Given the description of an element on the screen output the (x, y) to click on. 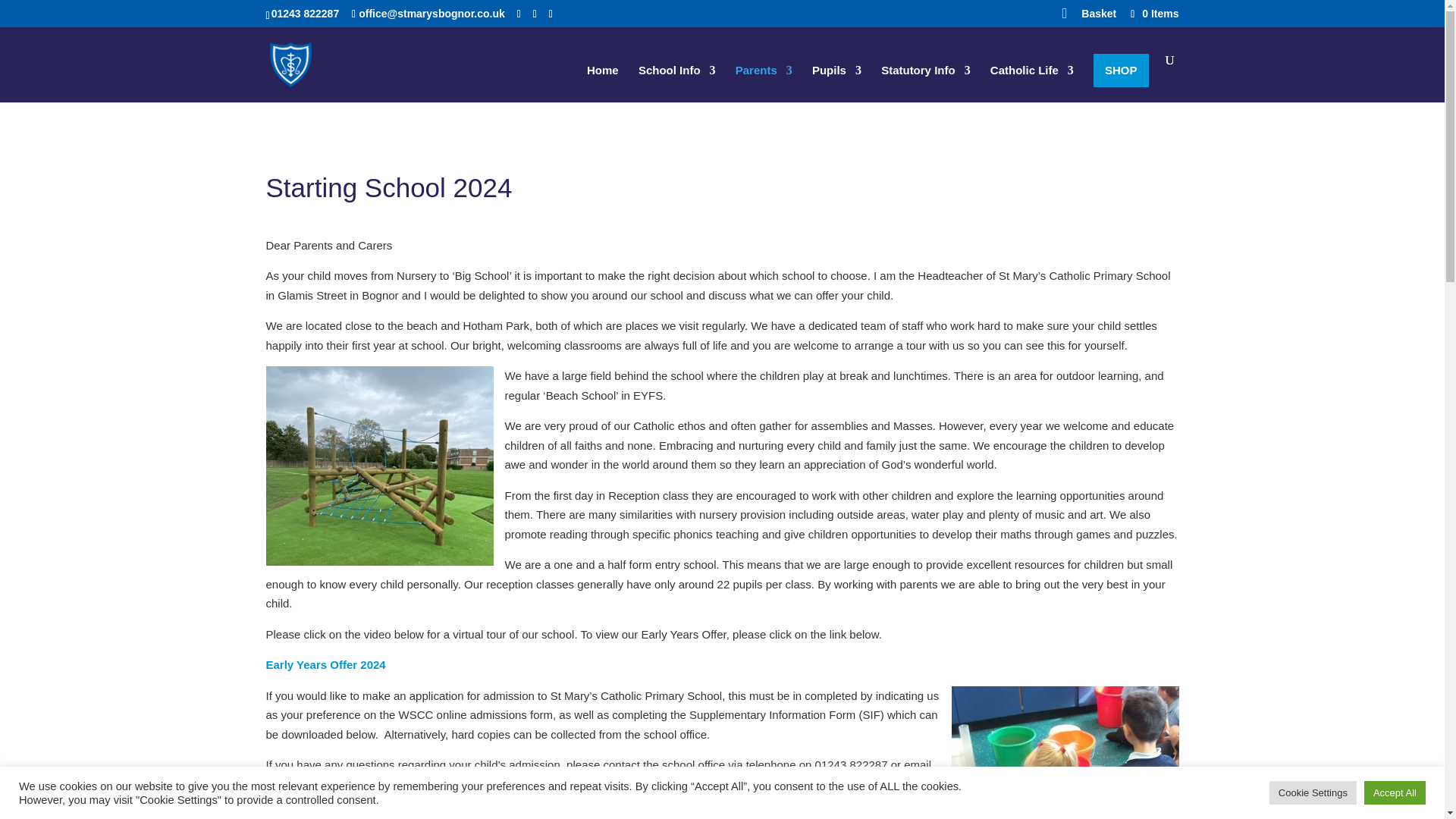
Parents (763, 83)
0 Items (1151, 13)
Pupils (836, 83)
School Info (677, 83)
Home (602, 83)
Basket (1098, 16)
